Given the description of an element on the screen output the (x, y) to click on. 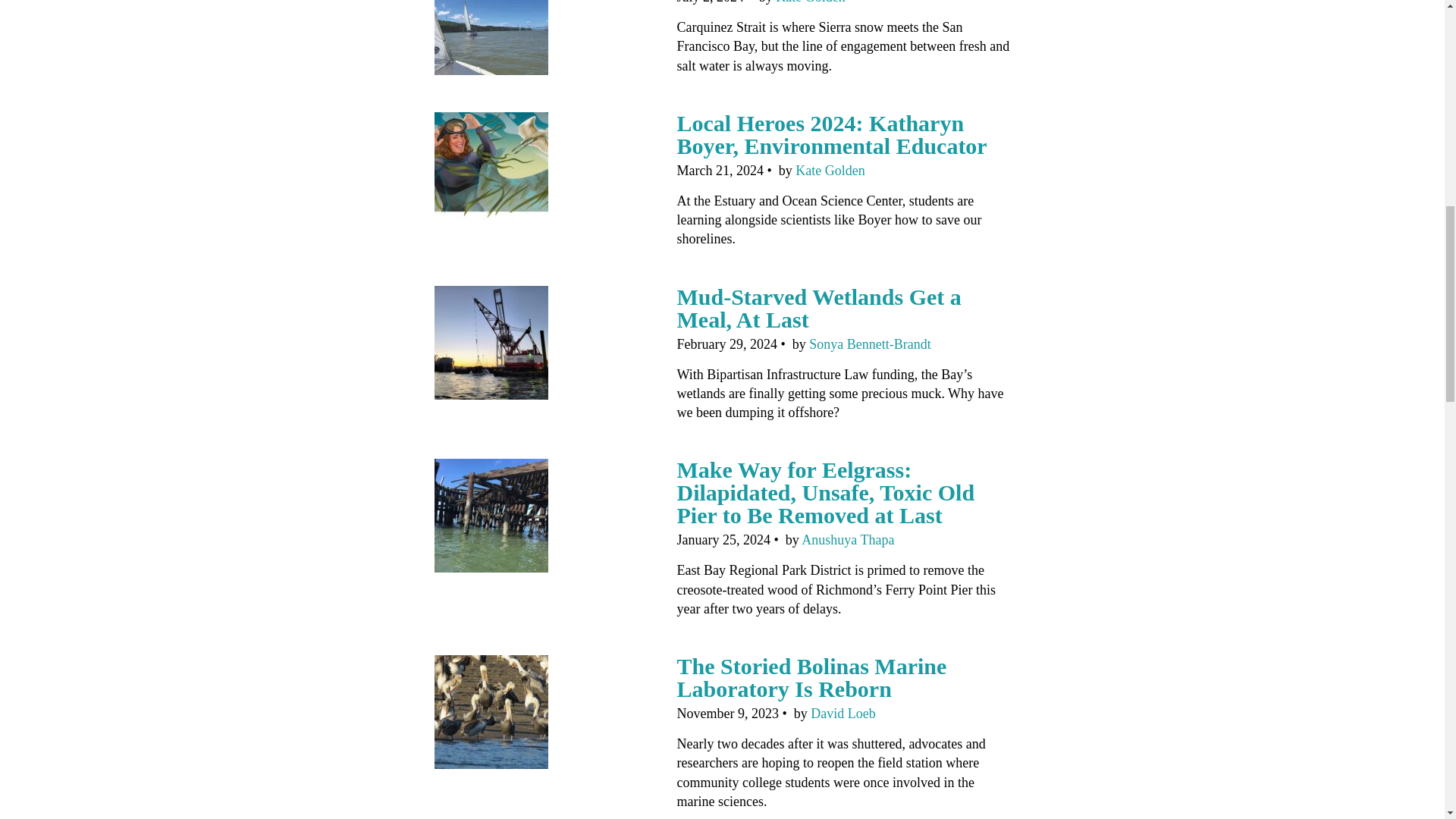
Sonya Bennett-Brandt (869, 344)
David Loeb (842, 713)
Posts by Sonya Bennett-Brandt (869, 344)
Anushuya Thapa (847, 539)
The Storied Bolinas Marine Laboratory Is Reborn (811, 677)
Mud-Starved Wetlands Get a Meal, At Last (818, 307)
Local Heroes 2024: Katharyn Boyer, Environmental Educator (832, 134)
Kate Golden (829, 170)
Posts by Kate Golden (810, 2)
Posts by Kate Golden (829, 170)
Posts by Anushuya Thapa (847, 539)
Posts by David Loeb (842, 713)
Kate Golden (810, 2)
